Given the description of an element on the screen output the (x, y) to click on. 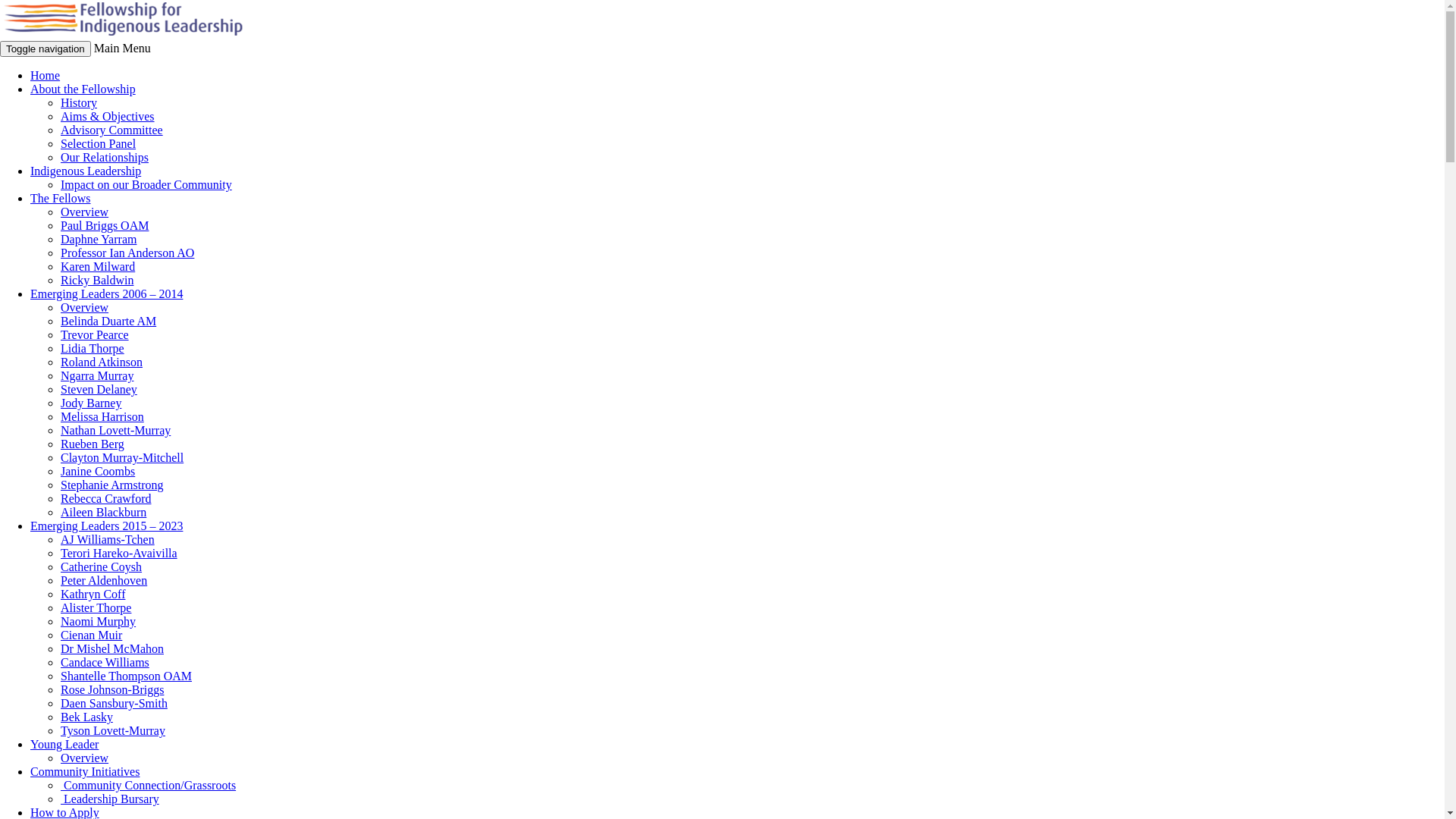
Catherine Coysh Element type: text (100, 566)
Janine Coombs Element type: text (97, 470)
 Community Connection/Grassroots Element type: text (147, 784)
Naomi Murphy Element type: text (97, 621)
Overview Element type: text (84, 211)
Dr Mishel McMahon Element type: text (111, 648)
Steven Delaney Element type: text (98, 388)
Clayton Murray-Mitchell Element type: text (121, 457)
Karen Milward Element type: text (97, 266)
Aims & Objectives Element type: text (107, 115)
AJ Williams-Tchen Element type: text (107, 539)
Our Relationships Element type: text (104, 156)
Community Initiatives Element type: text (84, 771)
Nathan Lovett-Murray Element type: text (115, 429)
Overview Element type: text (84, 307)
Overview Element type: text (84, 757)
Terori Hareko-Avaivilla Element type: text (118, 552)
About the Fellowship Element type: text (82, 88)
Selection Panel Element type: text (97, 143)
Daphne Yarram Element type: text (98, 238)
Professor Ian Anderson AO Element type: text (127, 252)
Candace Williams Element type: text (104, 661)
Home Element type: text (44, 75)
Melissa Harrison Element type: text (102, 416)
Jody Barney Element type: text (90, 402)
Peter Aldenhoven Element type: text (103, 580)
 Leadership Bursary Element type: text (109, 798)
Stephanie Armstrong Element type: text (111, 484)
Trevor Pearce Element type: text (94, 334)
Daen Sansbury-Smith Element type: text (113, 702)
Rueben Berg Element type: text (92, 443)
Bek Lasky Element type: text (86, 716)
Tyson Lovett-Murray Element type: text (112, 730)
Rebecca Crawford Element type: text (105, 498)
Aileen Blackburn Element type: text (103, 511)
History Element type: text (78, 102)
Toggle navigation Element type: text (45, 48)
Roland Atkinson Element type: text (101, 361)
Paul Briggs OAM Element type: text (104, 225)
Young Leader Element type: text (64, 743)
Advisory Committee Element type: text (111, 129)
Shantelle Thompson OAM Element type: text (125, 675)
Alister Thorpe Element type: text (95, 607)
Cienan Muir Element type: text (91, 634)
Kathryn Coff Element type: text (92, 593)
Rose Johnson-Briggs Element type: text (111, 689)
Belinda Duarte AM Element type: text (108, 320)
Lidia Thorpe Element type: text (92, 348)
Indigenous Leadership Element type: text (85, 170)
Ricky Baldwin Element type: text (96, 279)
The Fellows Element type: text (60, 197)
Ngarra Murray Element type: text (96, 375)
Impact on our Broader Community Element type: text (146, 184)
